Given the description of an element on the screen output the (x, y) to click on. 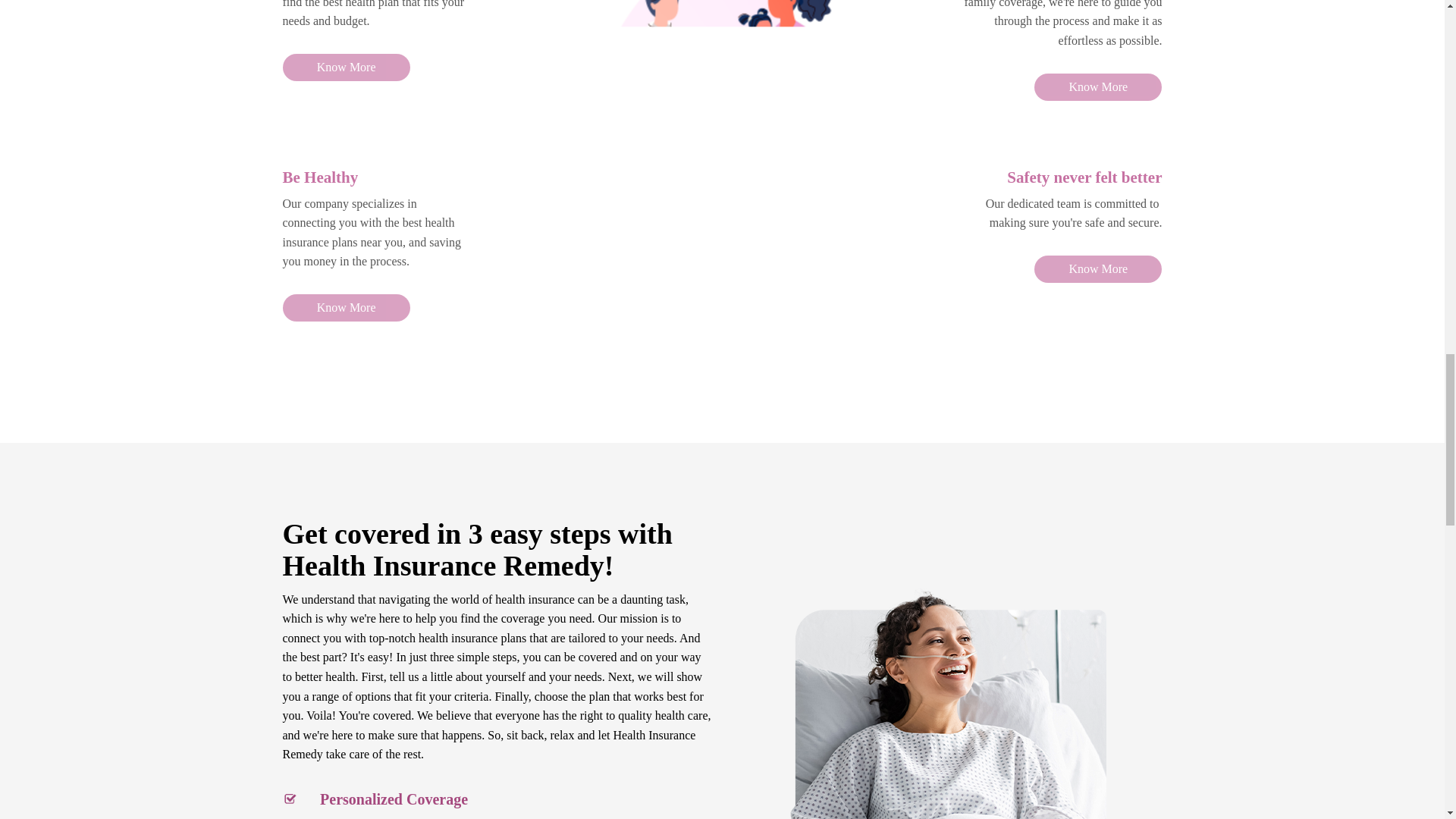
Know More (345, 67)
Know More (1097, 86)
Know More (1097, 268)
Know More (345, 307)
